Given the description of an element on the screen output the (x, y) to click on. 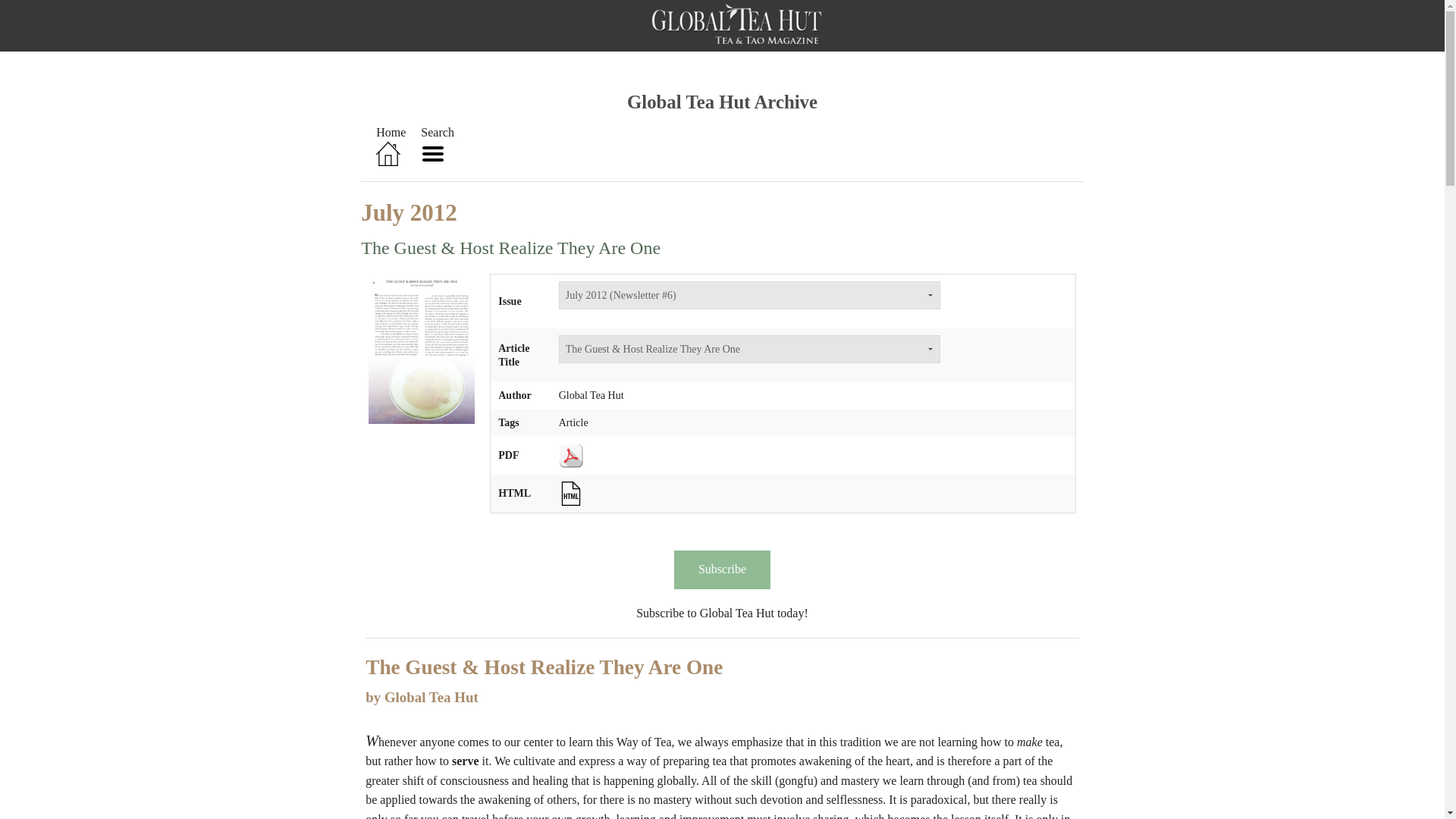
July 2012 (409, 212)
Subscribe (722, 569)
Global Tea Hut Archive (721, 101)
Send (20, 9)
